Given the description of an element on the screen output the (x, y) to click on. 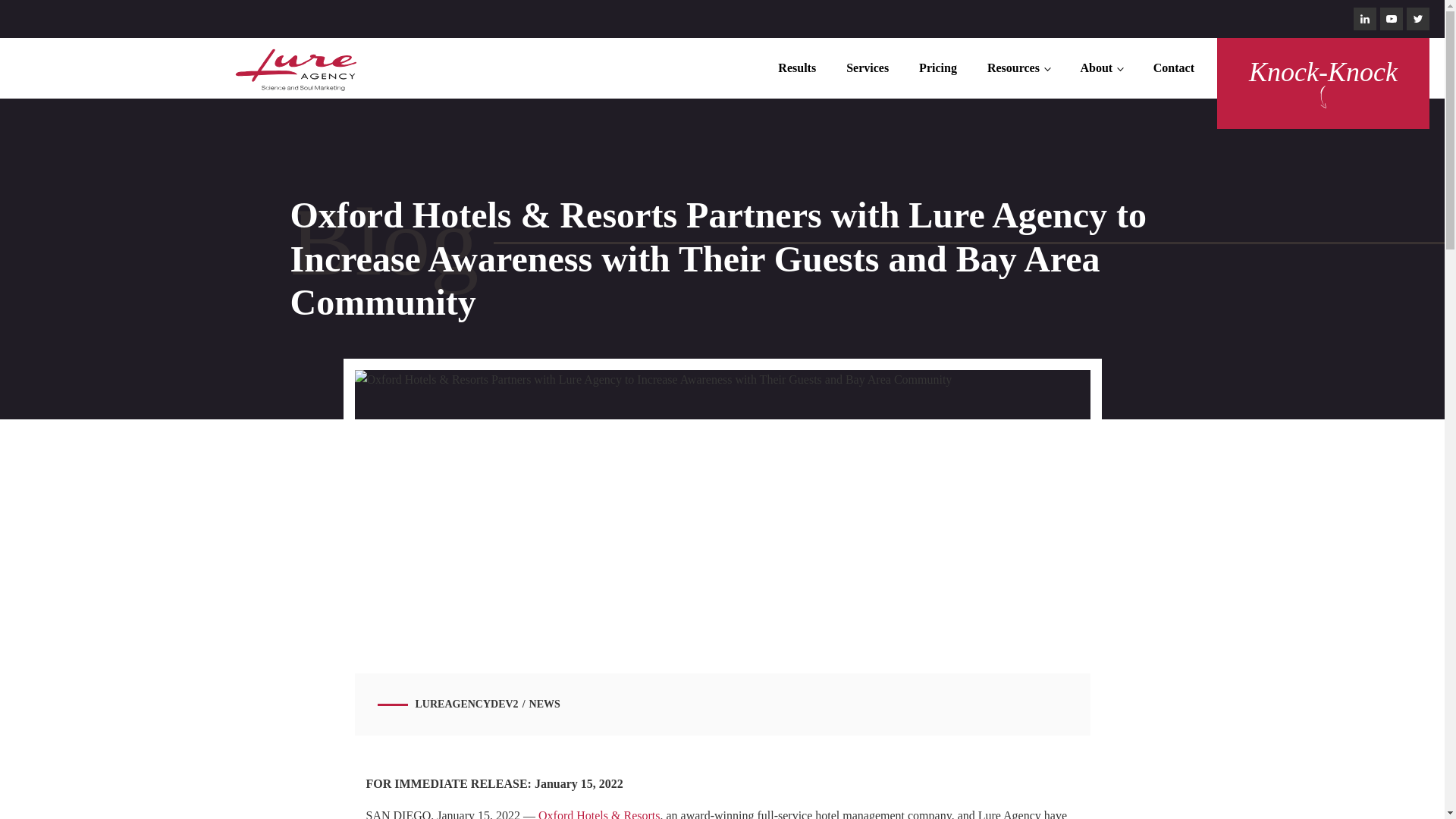
Knock-Knock (1323, 71)
Contact (1173, 68)
Resources (1018, 68)
Results (796, 68)
Pricing (938, 68)
NEWS (544, 704)
About (1100, 68)
Services (867, 68)
